Given the description of an element on the screen output the (x, y) to click on. 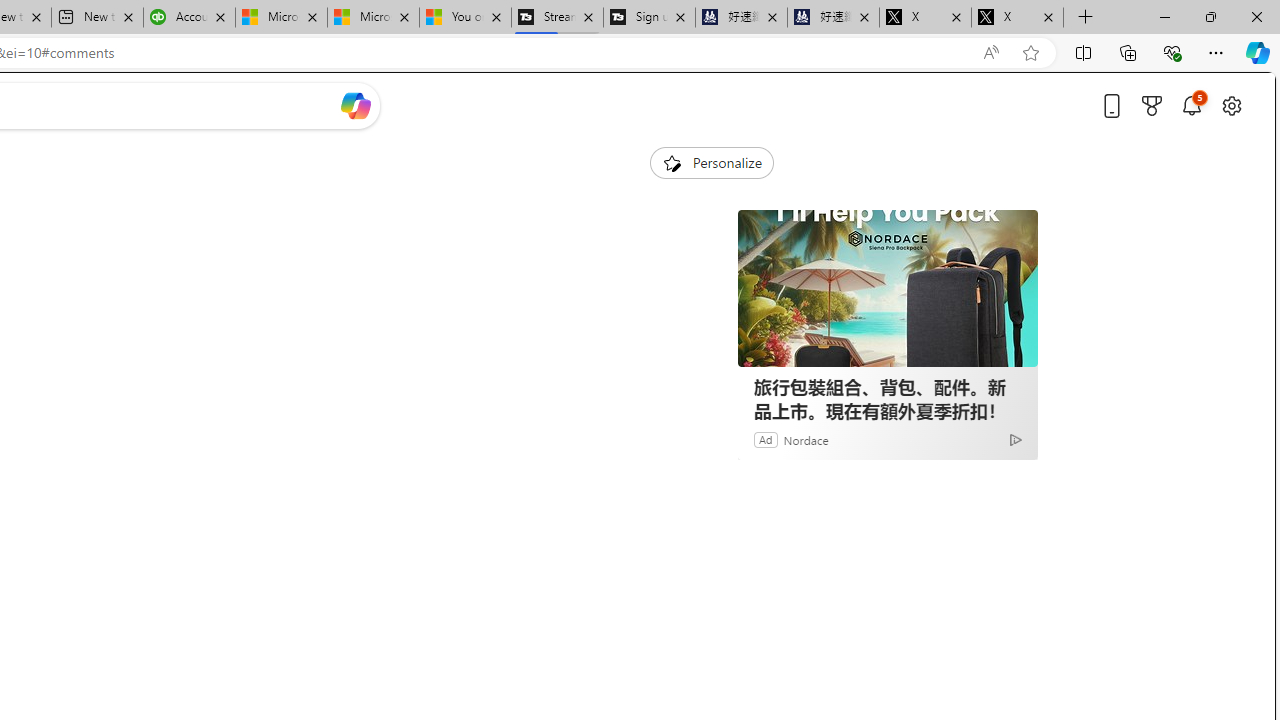
Open settings (1231, 105)
Personalize (711, 162)
To get missing image descriptions, open the context menu. (671, 162)
